Given the description of an element on the screen output the (x, y) to click on. 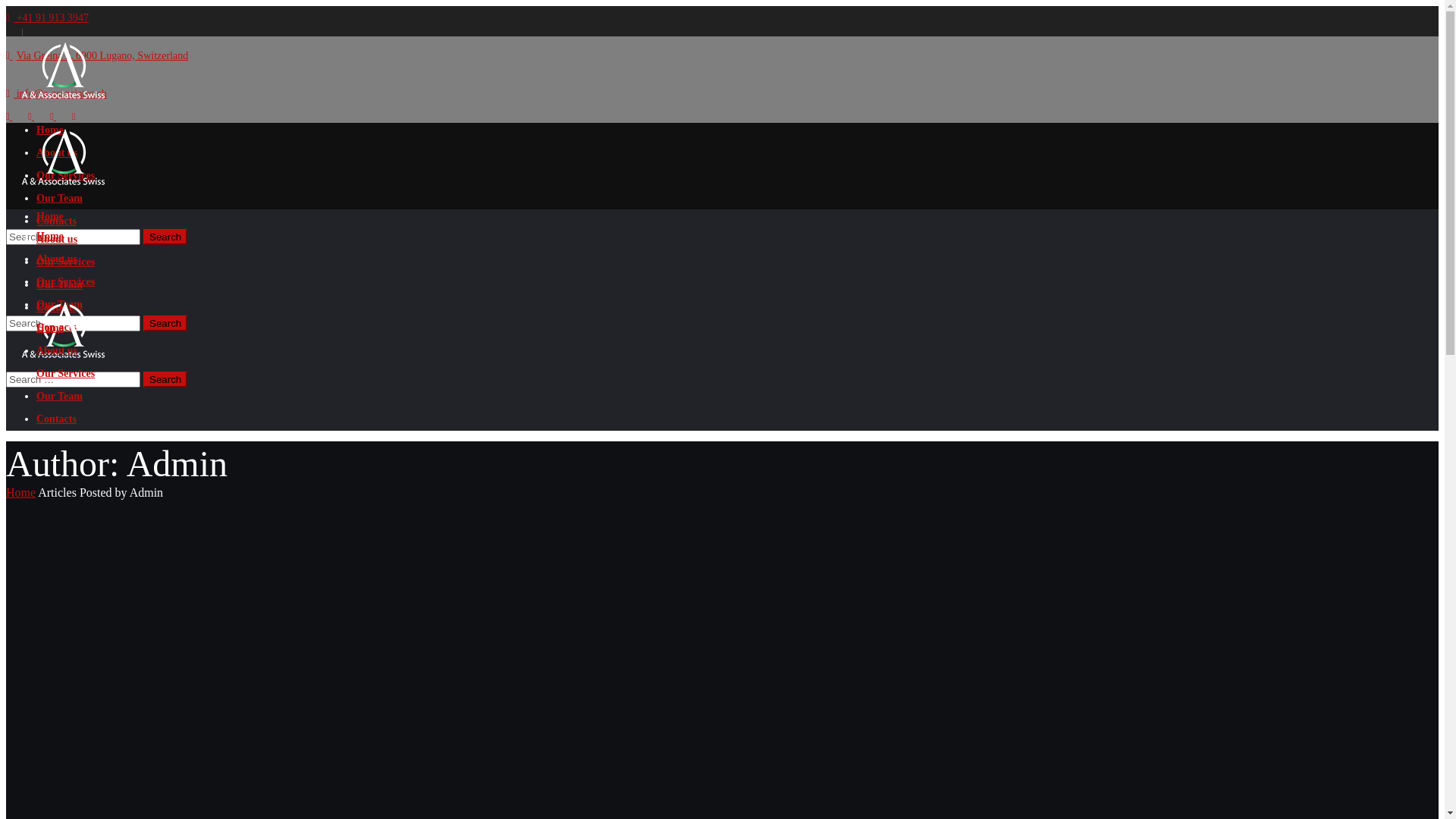
Our Services Element type: text (65, 261)
Home Element type: text (49, 327)
About us Element type: text (56, 258)
Search Element type: text (165, 323)
Contacts Element type: text (56, 307)
Our Services Element type: text (65, 175)
Via Greina 2, 6900 Lugano, Switzerland Element type: text (97, 55)
Home Element type: text (20, 492)
Our Services Element type: text (65, 281)
Search Element type: text (165, 236)
About us Element type: text (56, 238)
Our Team Element type: text (59, 304)
Contacts Element type: text (56, 326)
Our Services Element type: text (65, 373)
info@a-associates.ch Element type: text (56, 93)
Contacts Element type: text (56, 220)
Search Element type: text (165, 379)
Our Team Element type: text (59, 197)
+41 91 913 3947 Element type: text (47, 17)
About us Element type: text (56, 152)
Our Team Element type: text (59, 284)
Our Team Element type: text (59, 395)
Home Element type: text (49, 235)
Home Element type: text (49, 216)
Home Element type: text (49, 129)
Contacts Element type: text (56, 418)
About us Element type: text (56, 350)
